Given the description of an element on the screen output the (x, y) to click on. 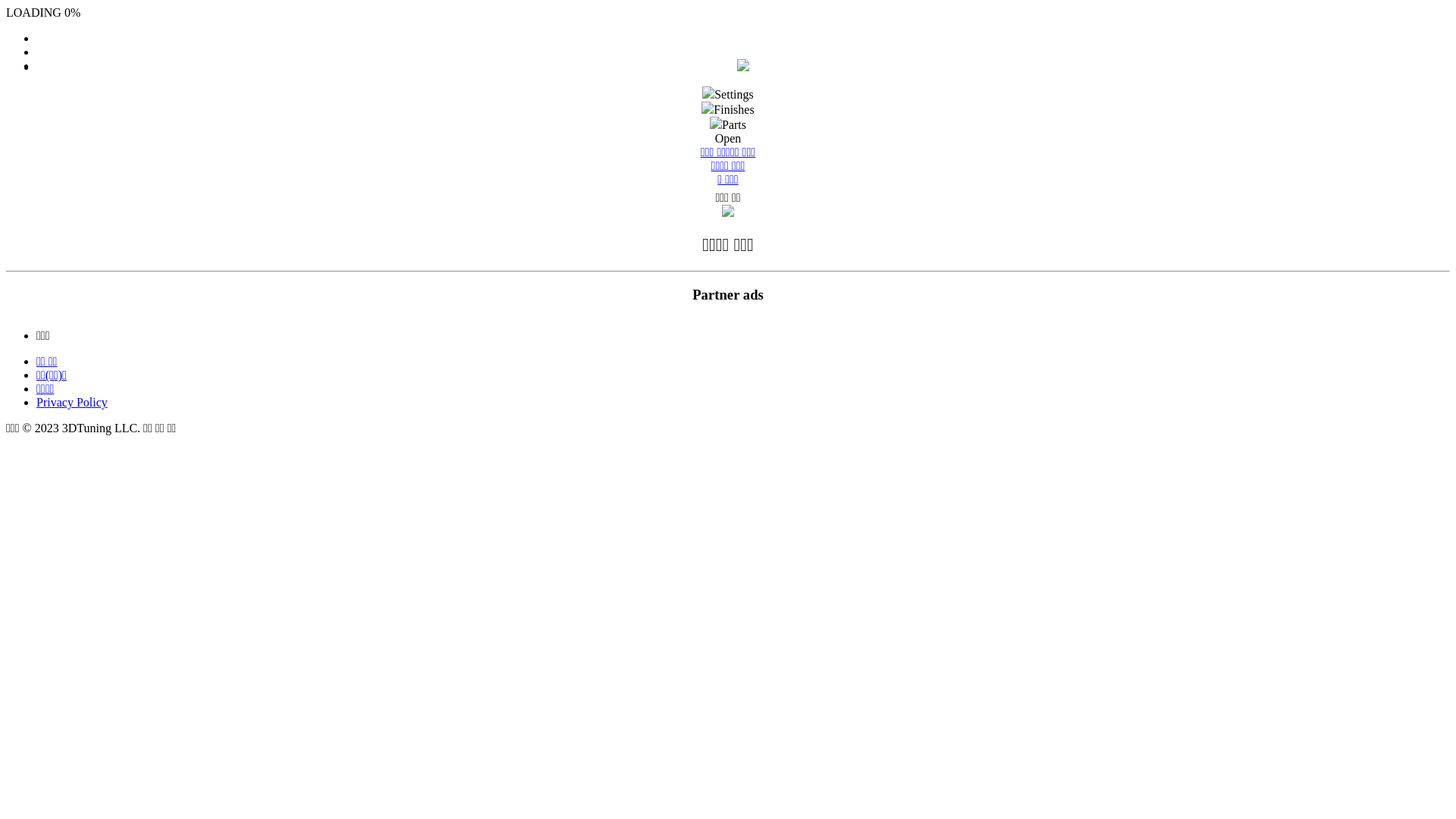
Privacy Policy Element type: text (71, 401)
